Given the description of an element on the screen output the (x, y) to click on. 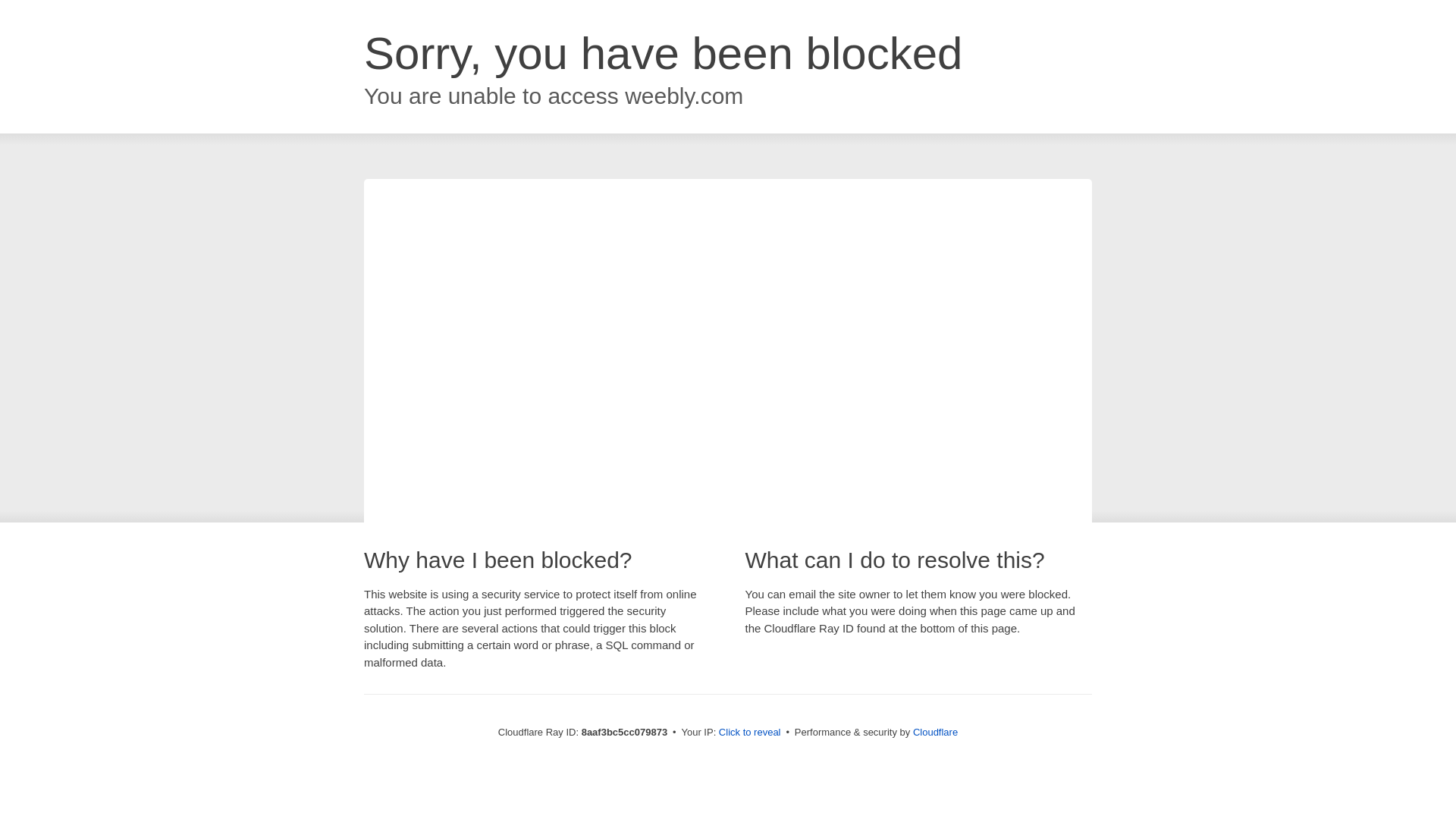
Click to reveal (749, 732)
Cloudflare (935, 731)
